Given the description of an element on the screen output the (x, y) to click on. 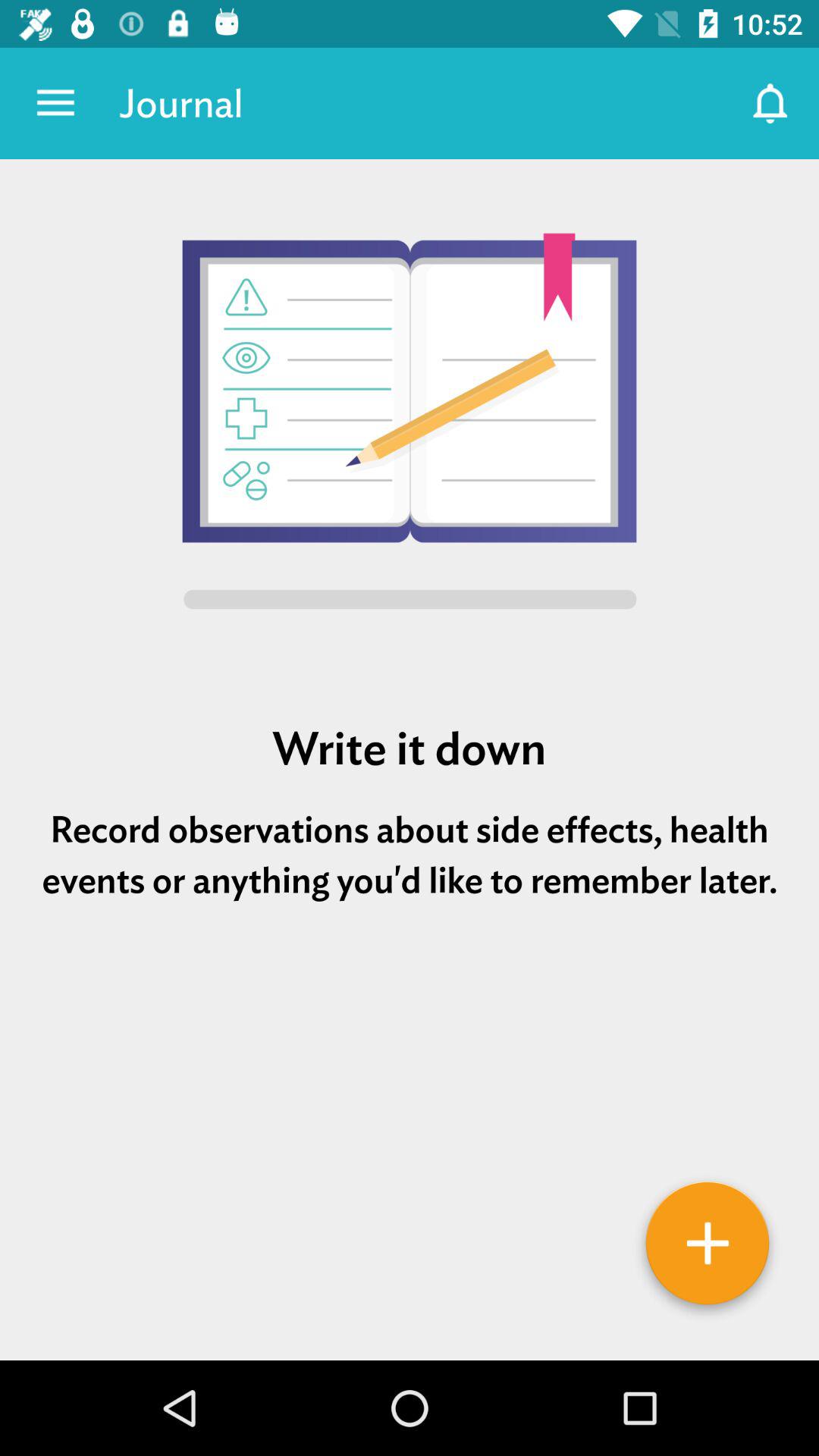
add to journal (707, 1248)
